Given the description of an element on the screen output the (x, y) to click on. 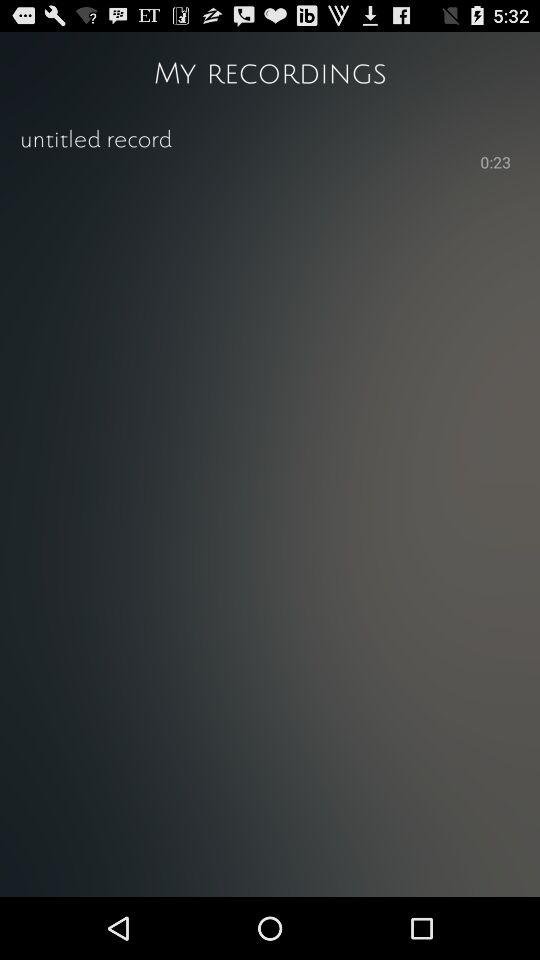
flip to the untitled record item (270, 137)
